Given the description of an element on the screen output the (x, y) to click on. 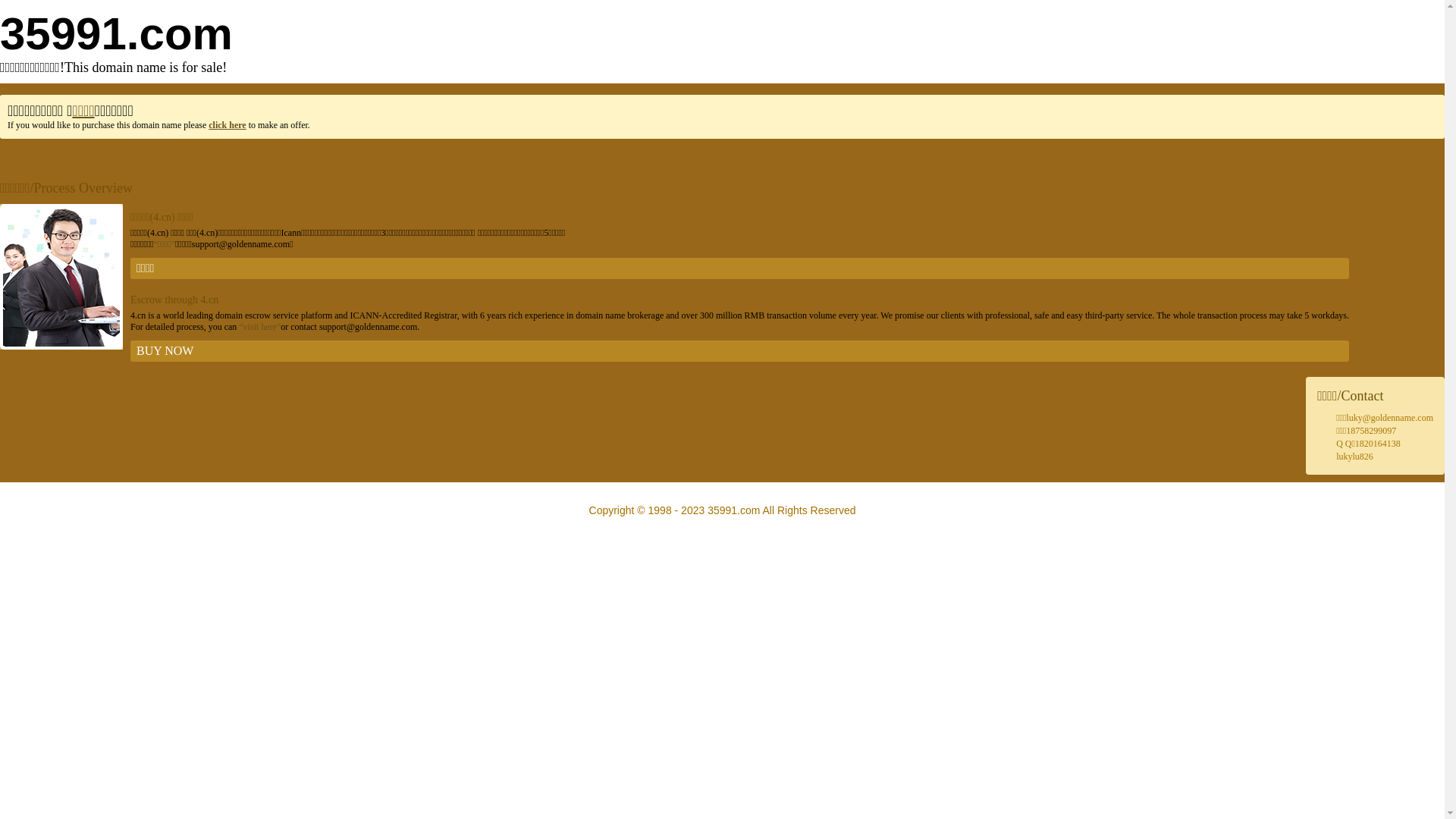
click here Element type: text (226, 124)
BUY NOW Element type: text (739, 350)
